Given the description of an element on the screen output the (x, y) to click on. 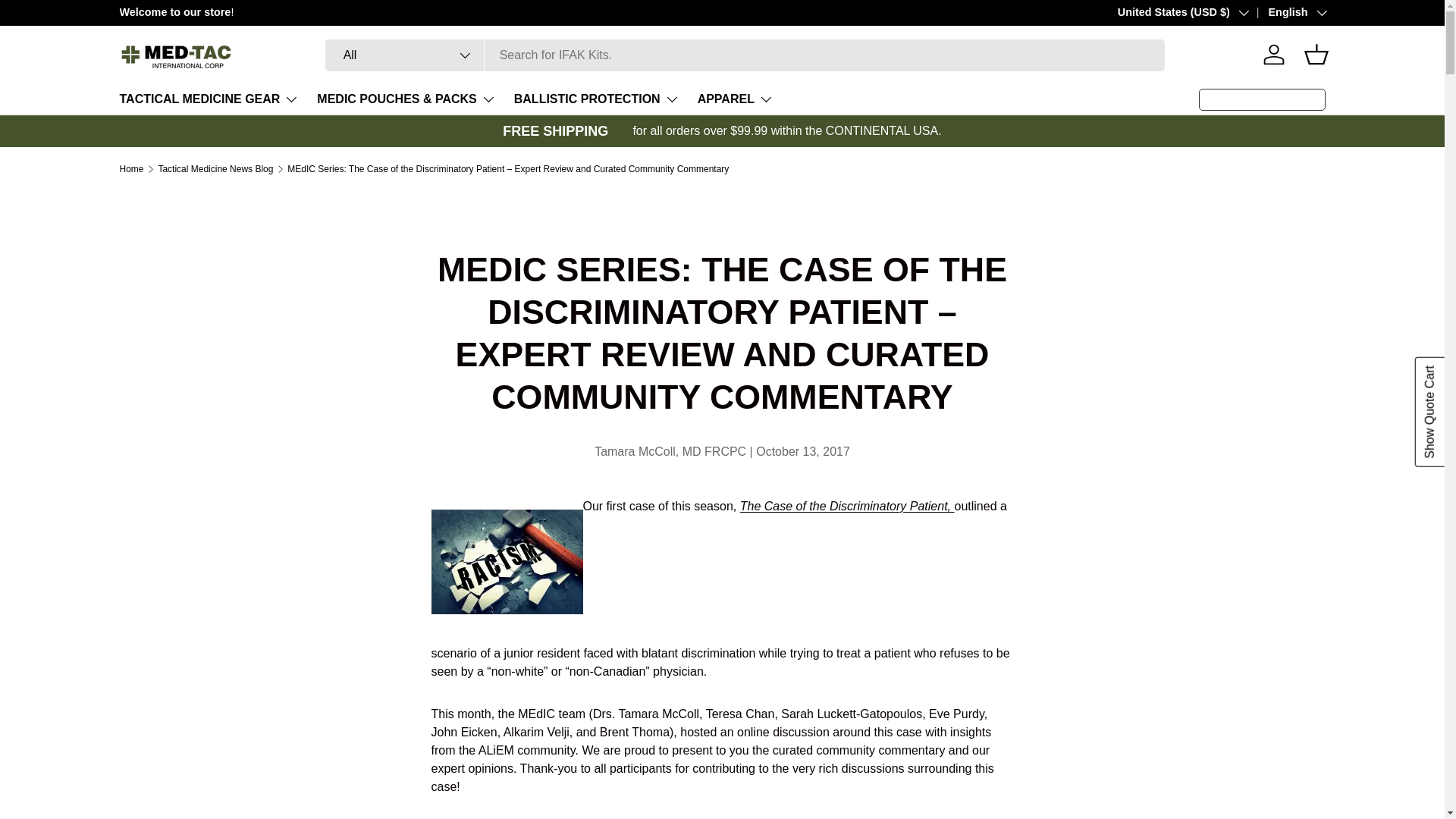
TACTICAL MEDICINE GEAR (209, 99)
Basket (1316, 54)
All (404, 55)
Skip to content (68, 21)
English (1285, 12)
Log in (1273, 54)
